Given the description of an element on the screen output the (x, y) to click on. 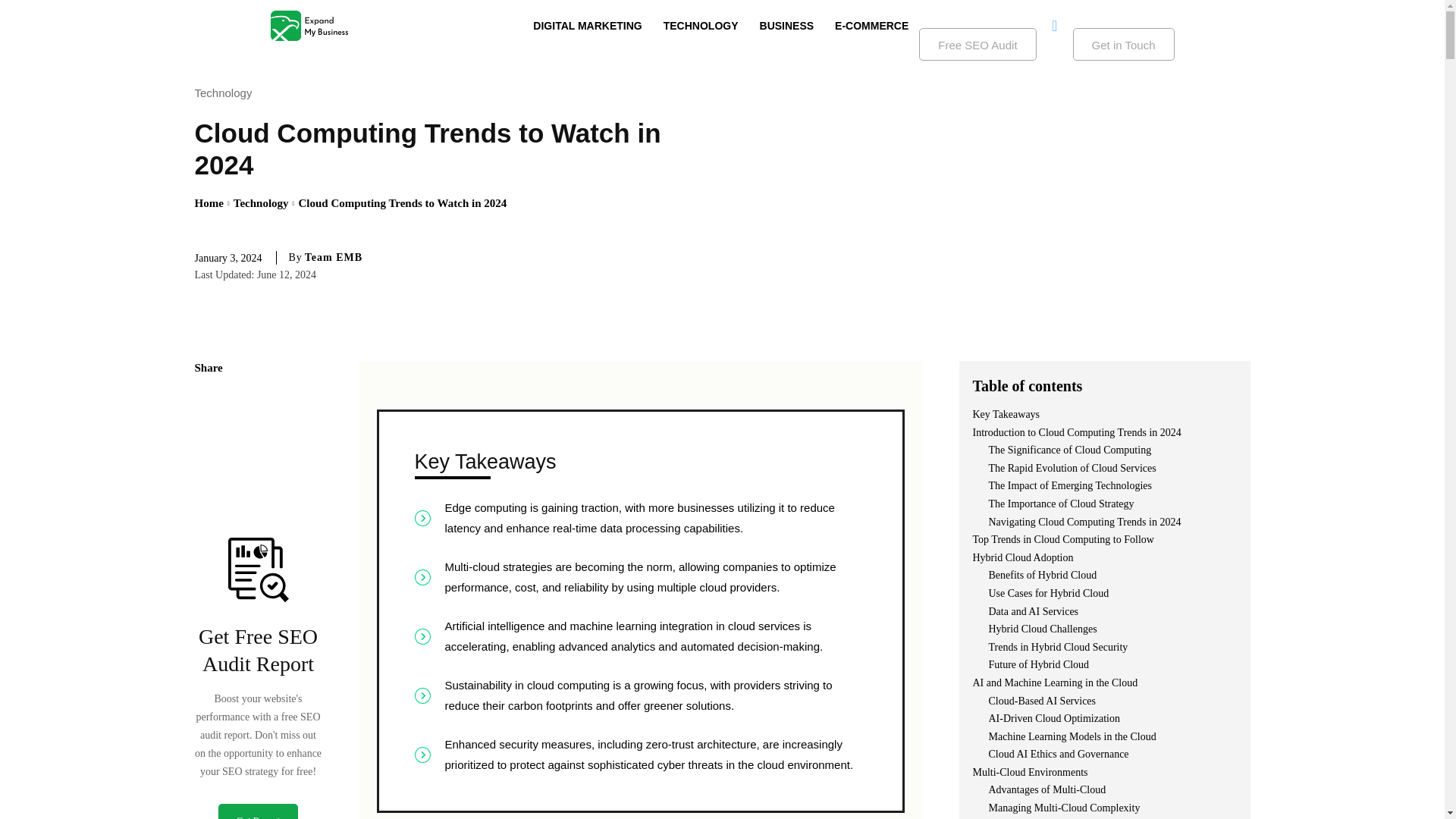
View all posts in Technology (260, 203)
Technology (226, 92)
TECHNOLOGY (700, 25)
Expand My Business (308, 25)
Get in Touch (1123, 43)
E-COMMERCE (871, 25)
Free SEO Audit (977, 43)
DIGITAL MARKETING (587, 25)
Technology (260, 203)
BUSINESS (787, 25)
